Given the description of an element on the screen output the (x, y) to click on. 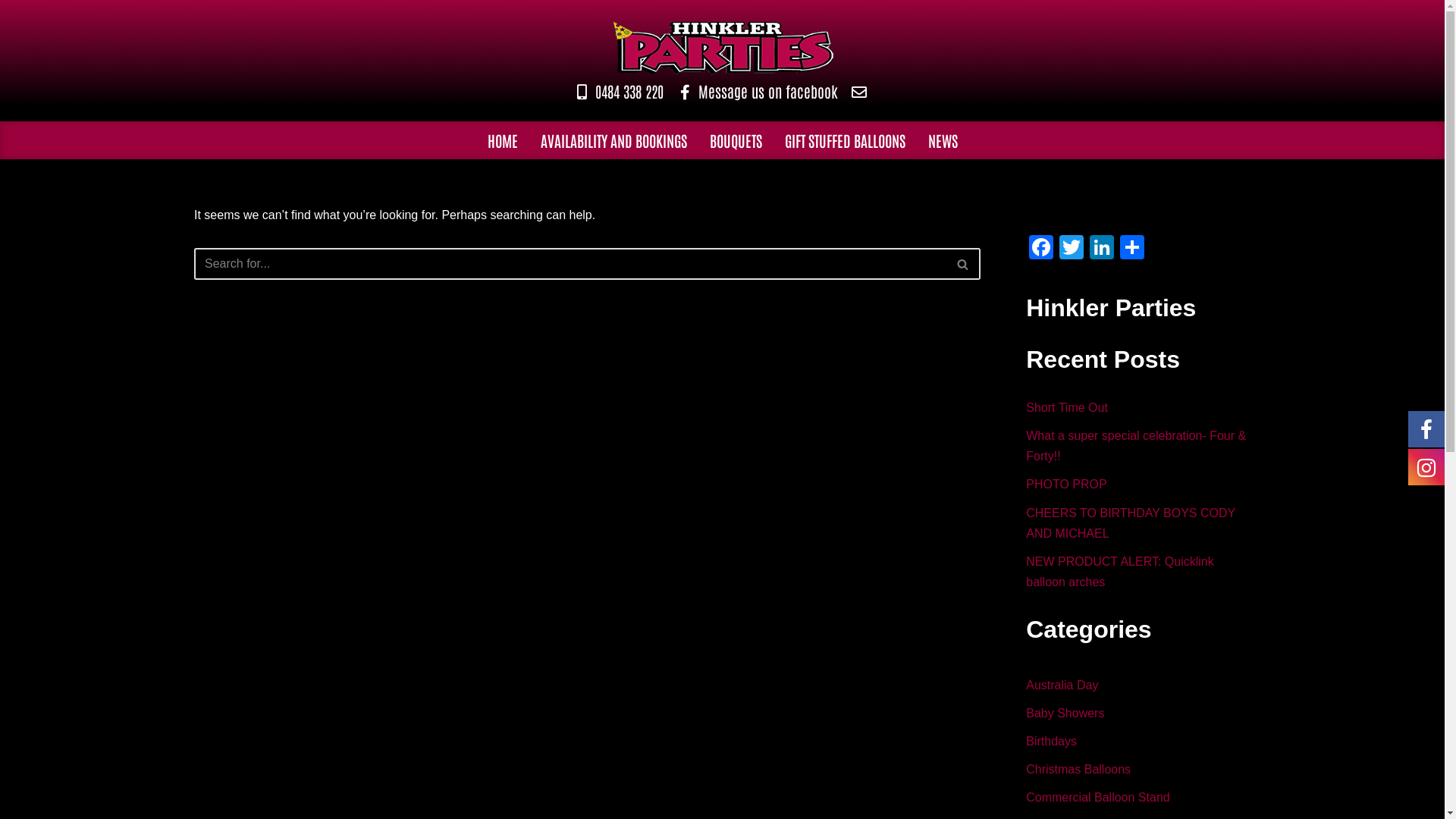
LinkedIn Element type: text (1101, 249)
Australia Day Element type: text (1062, 684)
Birthdays Element type: text (1051, 740)
Message us on facebook Element type: text (755, 90)
Short Time Out Element type: text (1066, 407)
What a super special celebration- Four & Forty!! Element type: text (1135, 445)
AVAILABILITY AND BOOKINGS Element type: text (613, 140)
NEWS Element type: text (942, 140)
PHOTO PROP Element type: text (1066, 483)
CHEERS TO BIRTHDAY BOYS CODY AND MICHAEL Element type: text (1130, 522)
Commercial Balloon Stand Element type: text (1097, 796)
Christmas Balloons Element type: text (1078, 768)
Twitter Element type: text (1071, 249)
NEW PRODUCT ALERT: Quicklink balloon arches Element type: text (1119, 571)
Baby Showers Element type: text (1065, 712)
BOUQUETS Element type: text (734, 140)
Share Element type: text (1132, 249)
Skip to content Element type: text (11, 31)
GIFT STUFFED BALLOONS Element type: text (844, 140)
Facebook Element type: text (1041, 249)
0484 338 220 Element type: text (616, 90)
HOME Element type: text (502, 140)
